Given the description of an element on the screen output the (x, y) to click on. 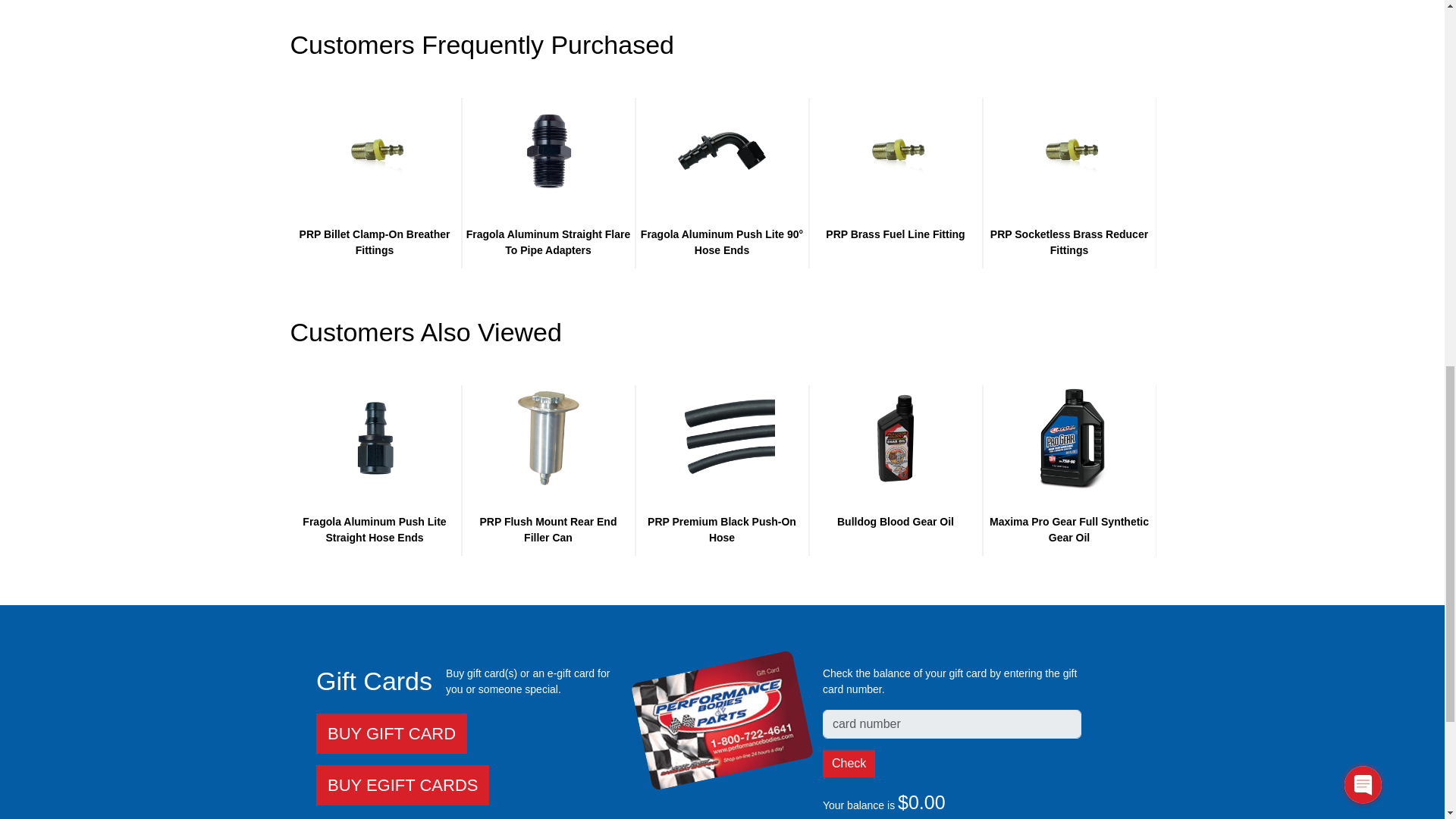
Show details for PRP Socketless Brass Reducer Fittings (1069, 150)
Show details for PRP Brass Fuel Line Fitting (894, 150)
Show details for PRP Billet Clamp-On Breather Fittings (374, 150)
Show details for PRP Socketless Brass Reducer Fittings (1069, 150)
Show details for PRP Billet Clamp-On Breather Fittings (374, 150)
Show details for PRP Flush Mount Rear End Filler Can (547, 437)
Show details for PRP Brass Fuel Line Fitting (896, 150)
